Given the description of an element on the screen output the (x, y) to click on. 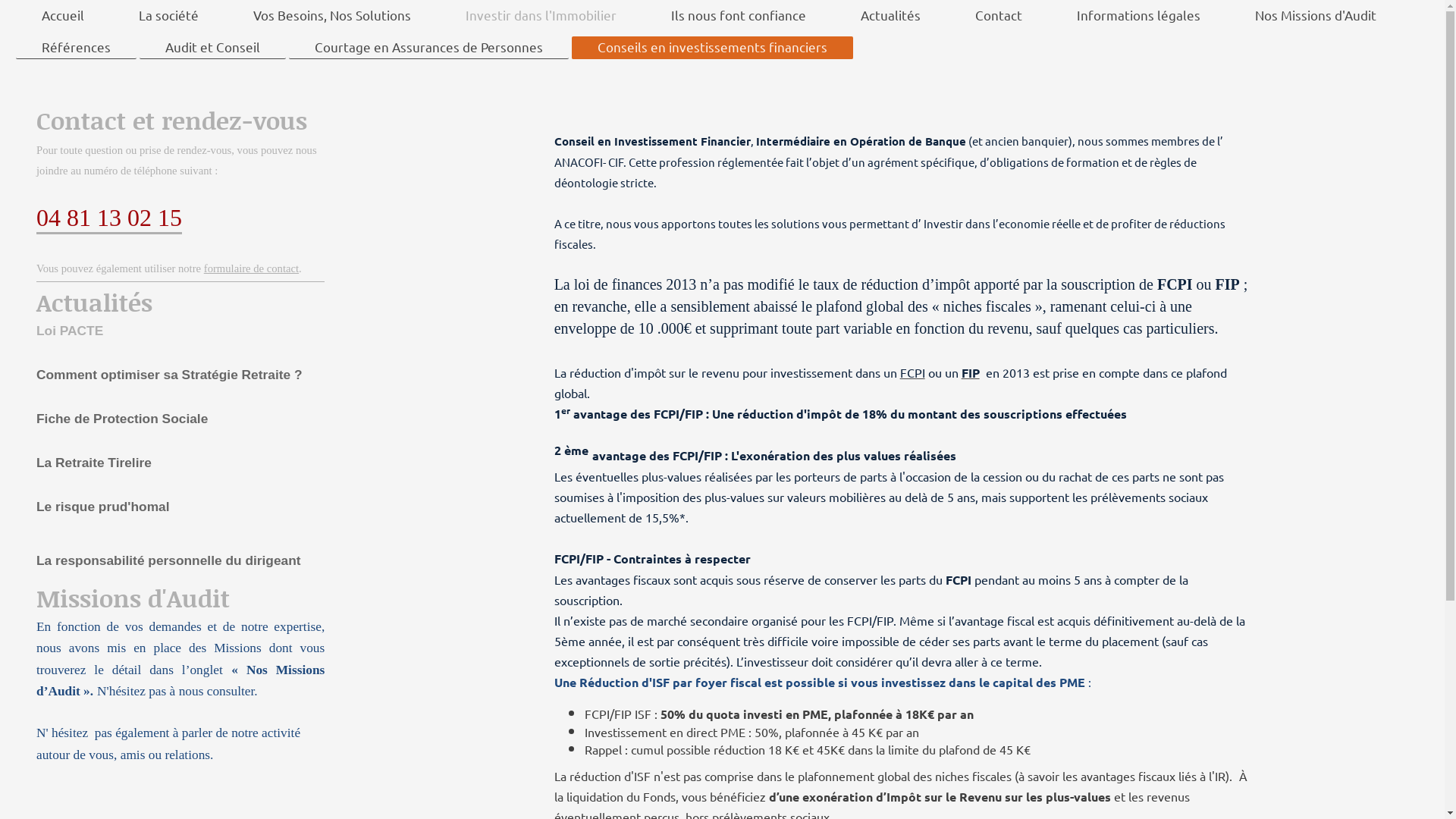
Conseils en investissements financiers Element type: text (712, 47)
04 81 13 02 15 Element type: text (109, 217)
Audit et Conseil Element type: text (212, 47)
formulaire de contact Element type: text (250, 268)
Contact Element type: text (998, 15)
Vos Besoins, Nos Solutions Element type: text (331, 15)
FCPI Element type: text (912, 371)
FIP Element type: text (970, 371)
Ils nous font confiance Element type: text (738, 15)
Investir dans l'Immobilier Element type: text (540, 15)
Courtage en Assurances de Personnes Element type: text (428, 47)
Accueil Element type: text (62, 15)
Nos Missions d'Audit Element type: text (1315, 15)
